Given the description of an element on the screen output the (x, y) to click on. 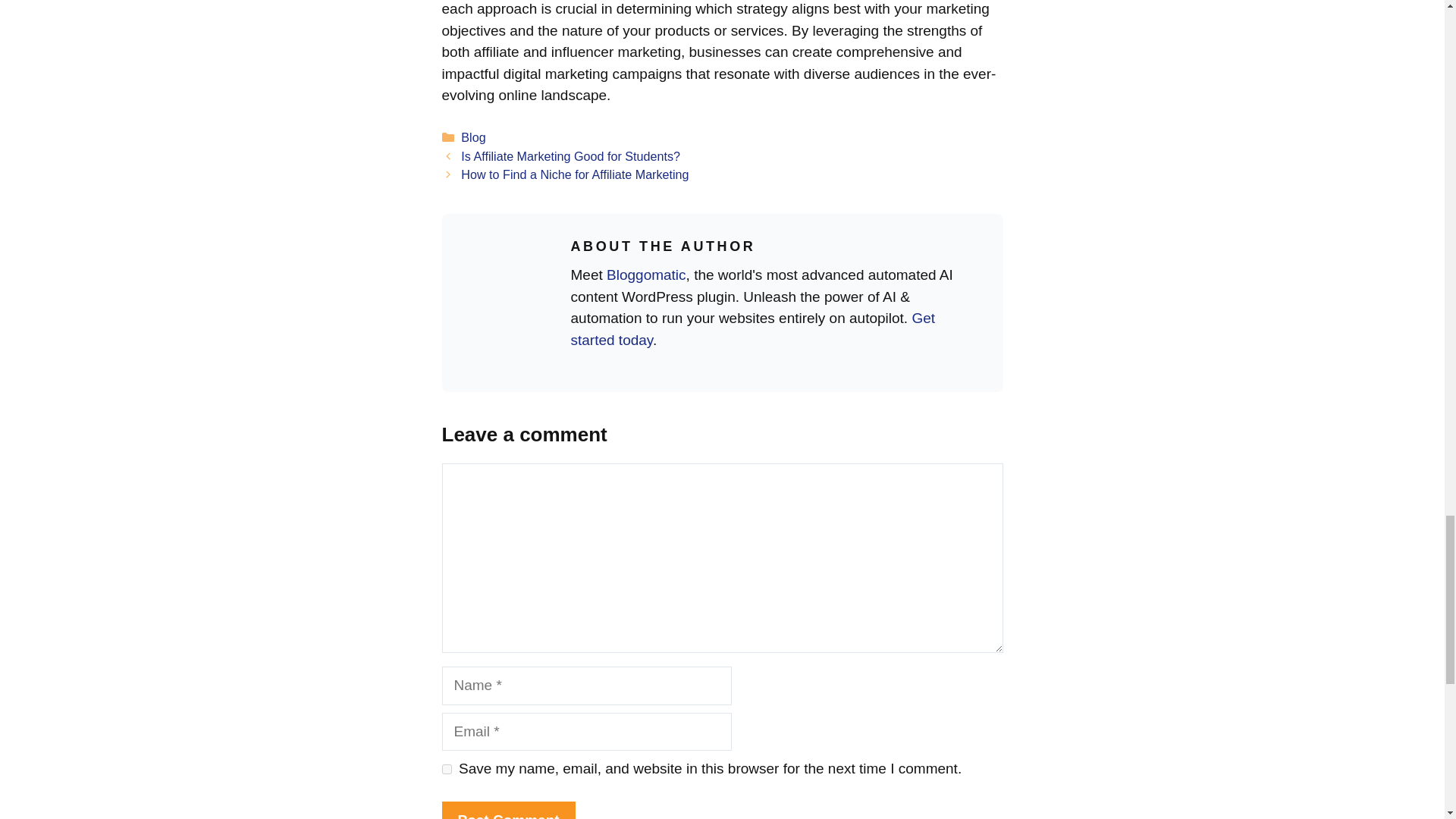
Post Comment (508, 810)
Is Affiliate Marketing Good for Students? (570, 155)
Bloggomatic (646, 274)
Post Comment (508, 810)
yes (446, 768)
Blog (472, 137)
How to Find a Niche for Affiliate Marketing (574, 173)
Get started today (752, 329)
